Given the description of an element on the screen output the (x, y) to click on. 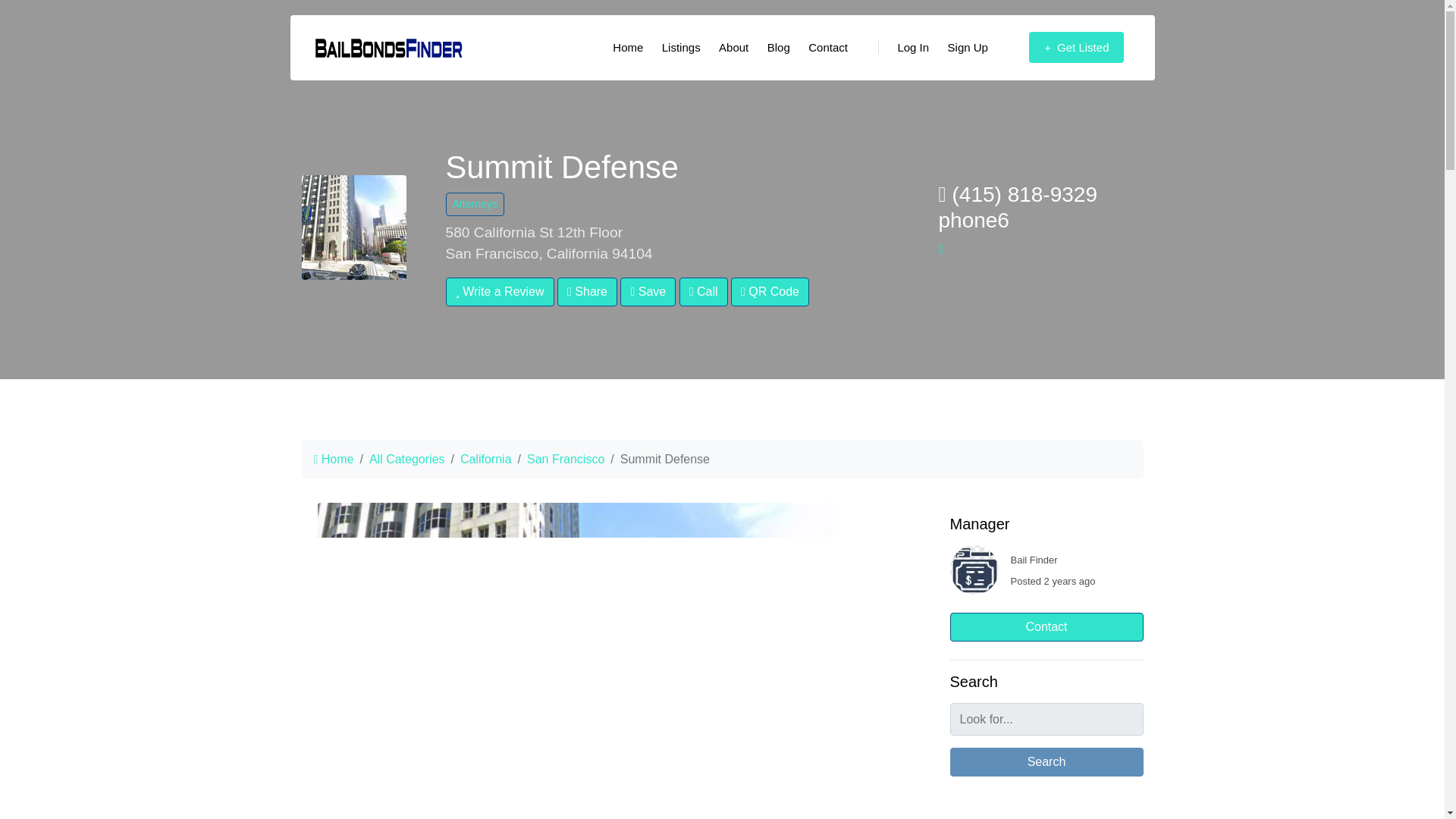
San Francisco (565, 459)
Home (627, 47)
All Categories (407, 459)
QR Code (769, 291)
Get Listed (1076, 47)
Call (703, 291)
Listings (680, 47)
Write a Review (499, 291)
Save (647, 291)
Log In (903, 47)
California (486, 459)
Share (587, 291)
Contact (828, 47)
Sign Up (967, 47)
Search (1045, 761)
